Given the description of an element on the screen output the (x, y) to click on. 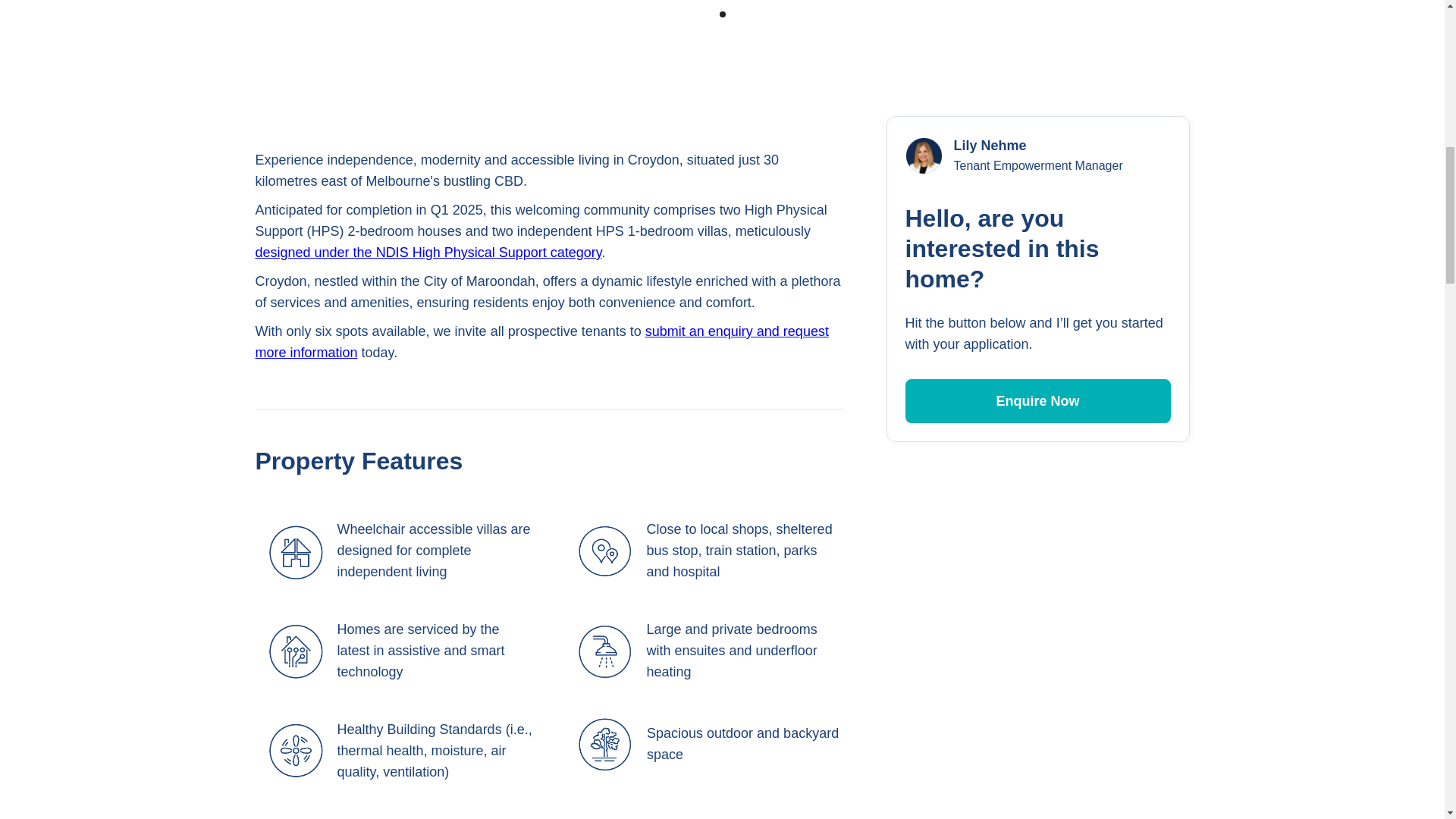
designed under the NDIS High Physical Support category (427, 252)
submit an enquiry and request more information (541, 341)
Enquire Now (1037, 401)
